Given the description of an element on the screen output the (x, y) to click on. 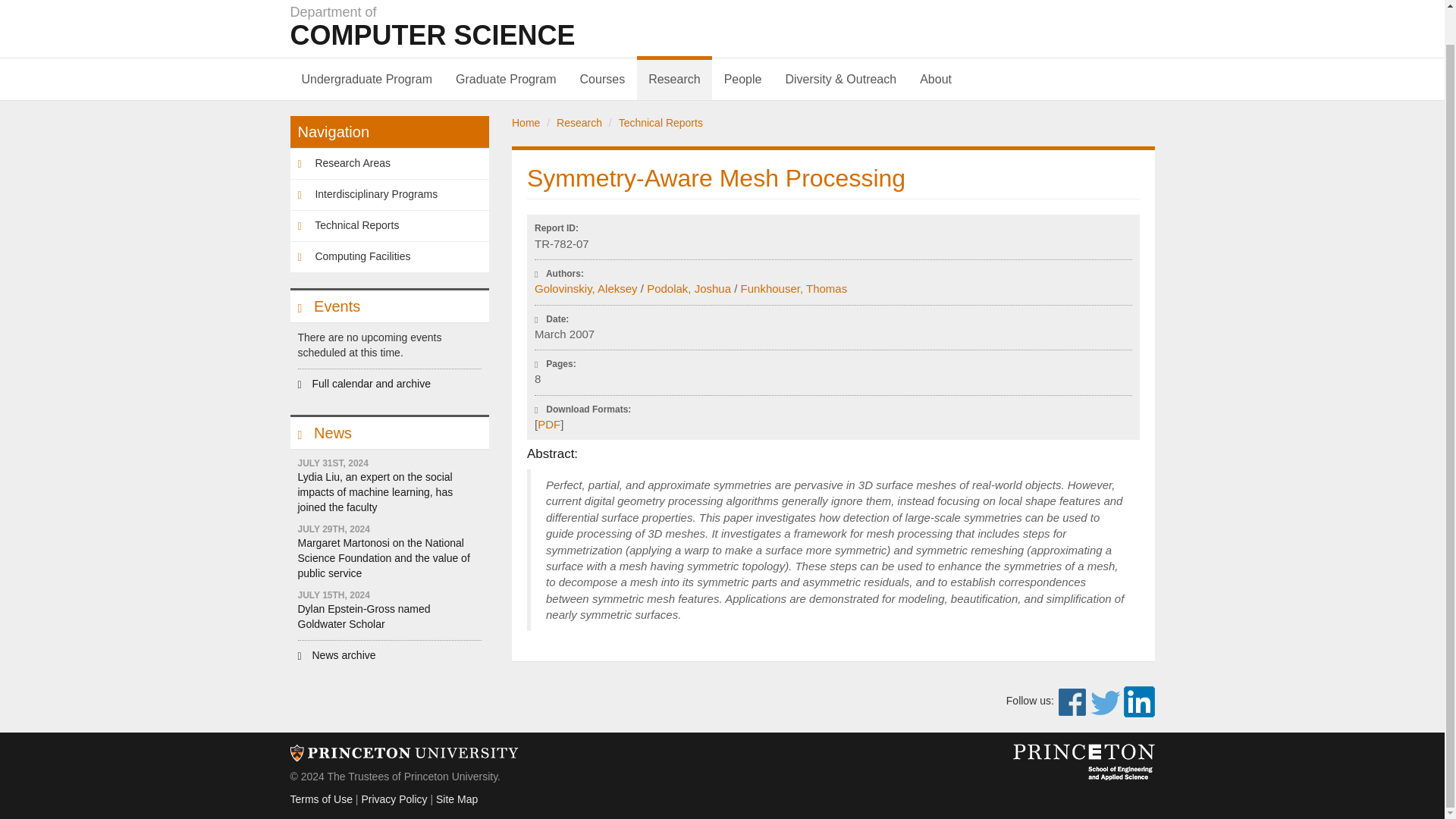
Undergraduate Program (574, 25)
Graduate Program (366, 79)
